Given the description of an element on the screen output the (x, y) to click on. 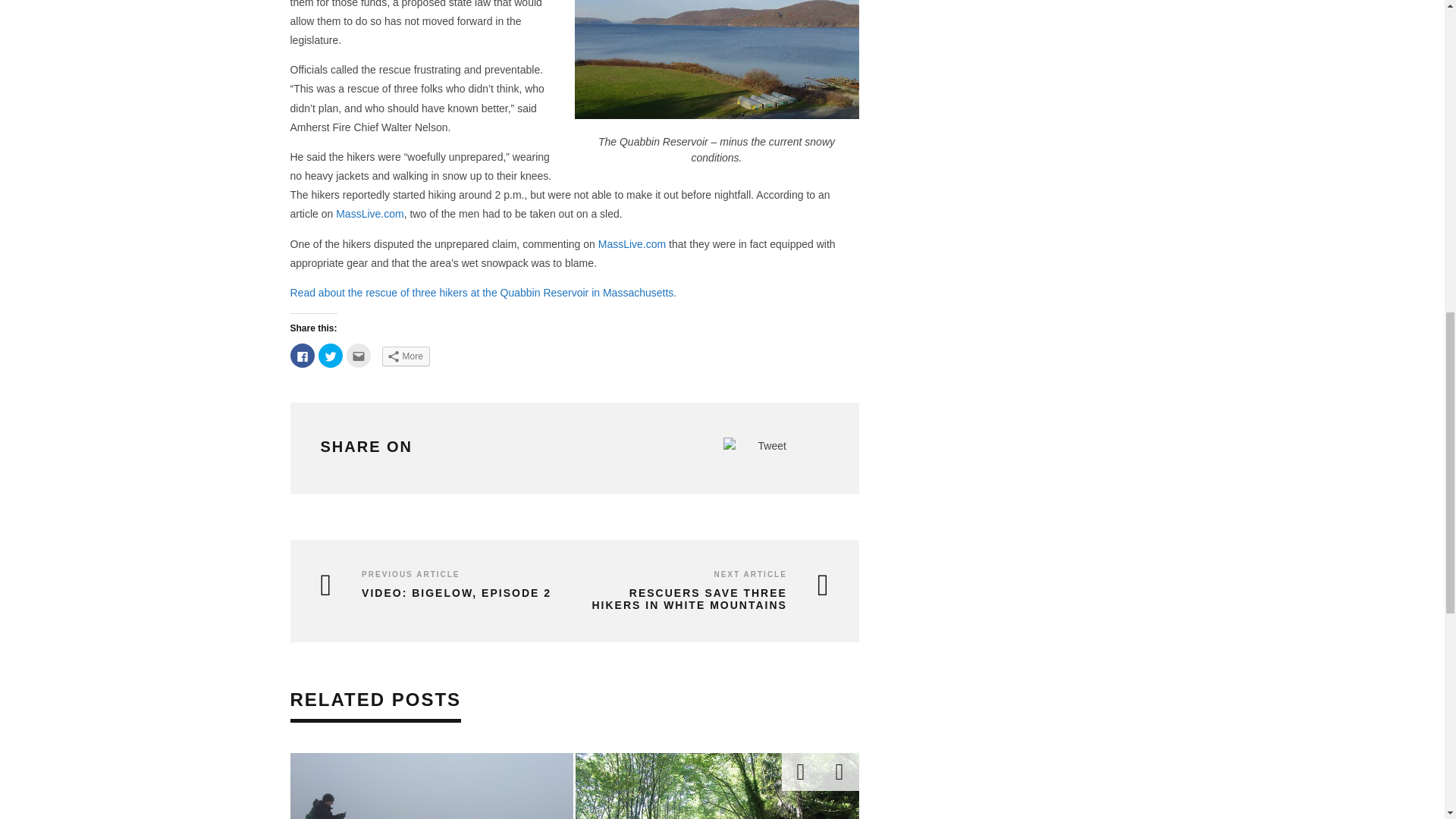
Click to share on Twitter (330, 355)
Click to email this to a friend (357, 355)
Click to share on Facebook (301, 355)
MassLive.com (369, 214)
MassLive.com (631, 244)
More (405, 356)
